Given the description of an element on the screen output the (x, y) to click on. 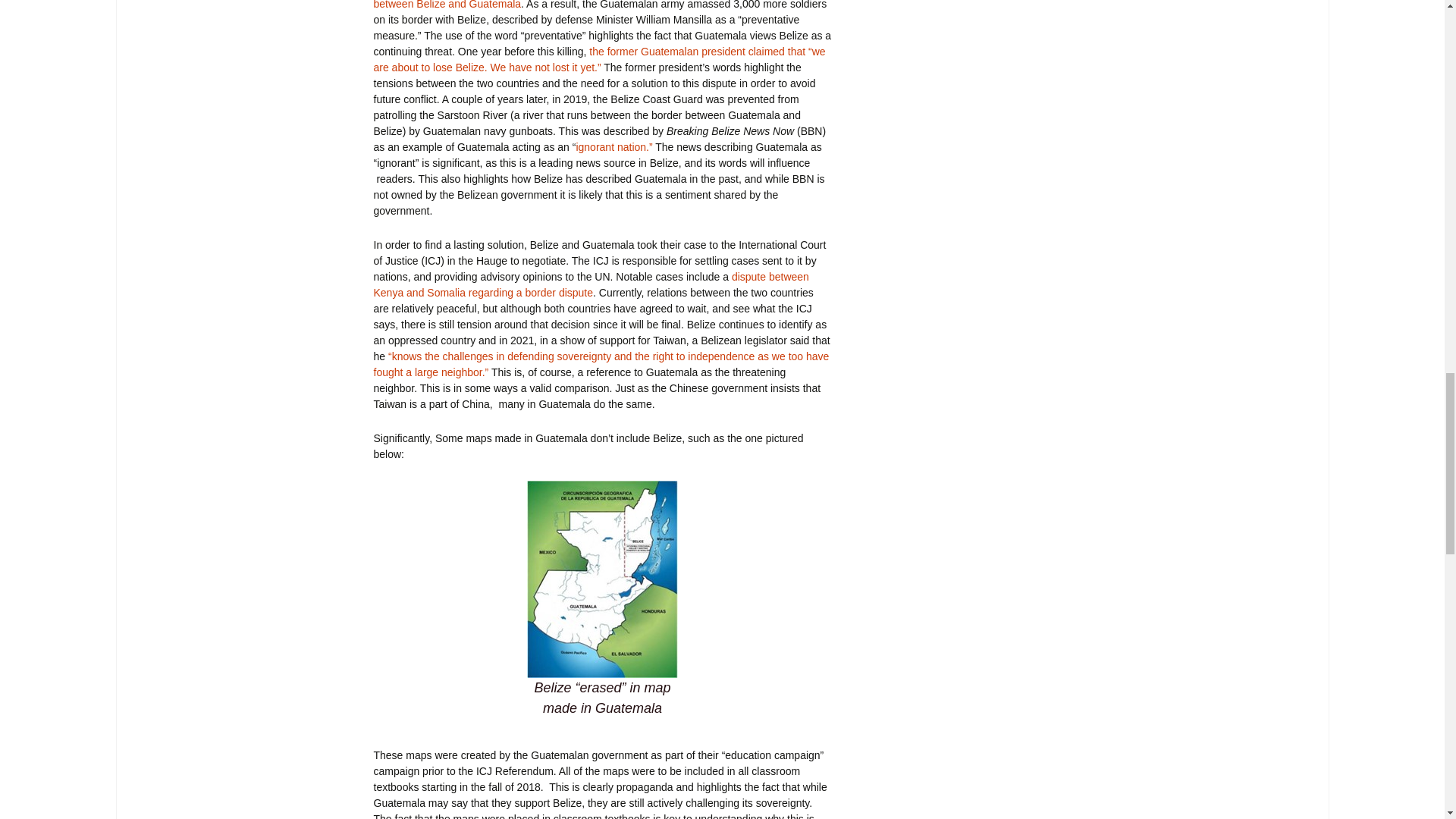
dispute between Kenya and Somalia regarding a border dispute (590, 284)
